Given the description of an element on the screen output the (x, y) to click on. 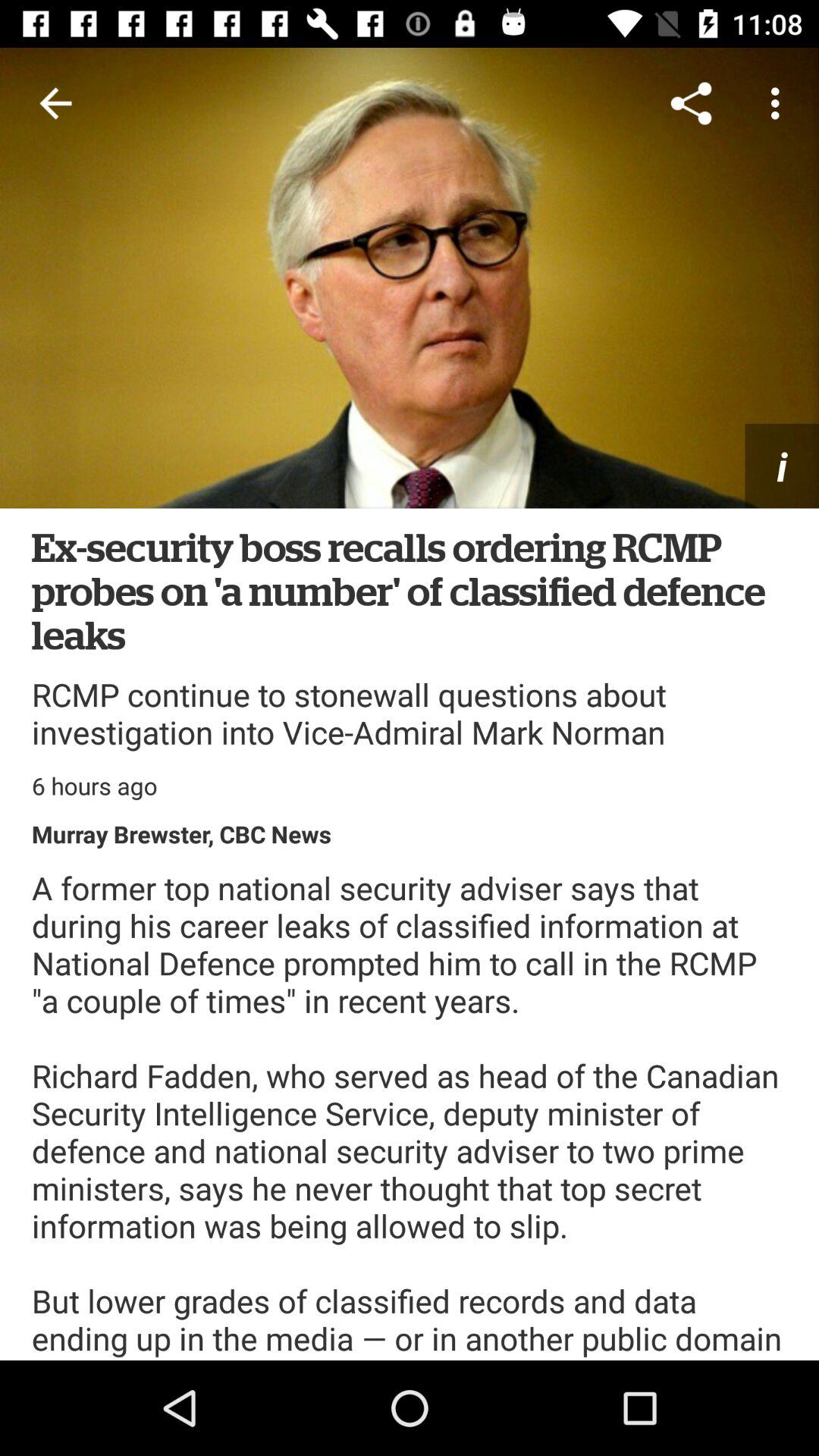
jump to ex security boss item (409, 590)
